Given the description of an element on the screen output the (x, y) to click on. 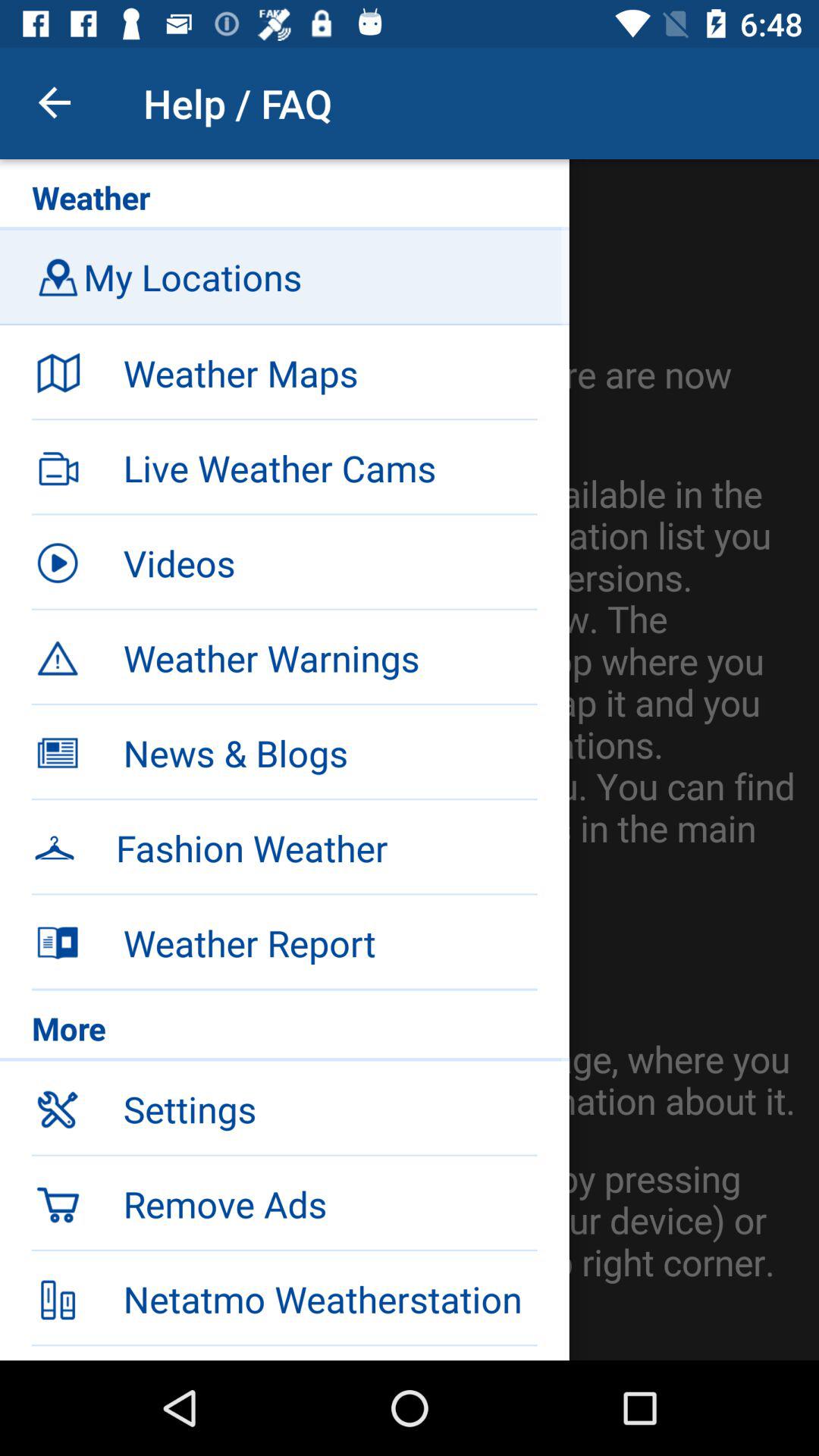
select imprint (330, 1353)
